Given the description of an element on the screen output the (x, y) to click on. 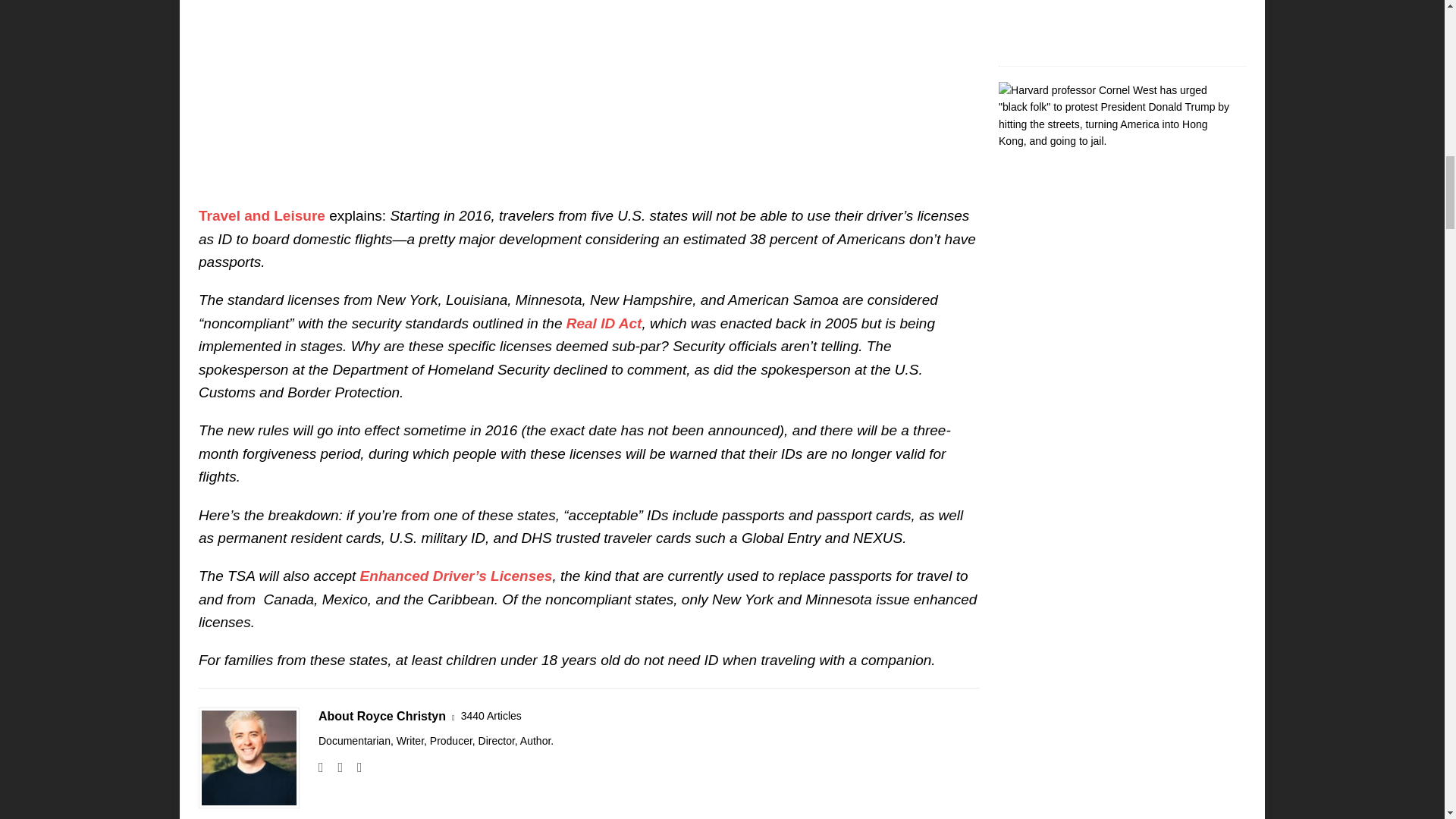
Follow Royce Christyn on Instagram (334, 766)
More articles written by Royce Christyn' (491, 715)
Follow Royce Christyn on Twitter (354, 766)
